Given the description of an element on the screen output the (x, y) to click on. 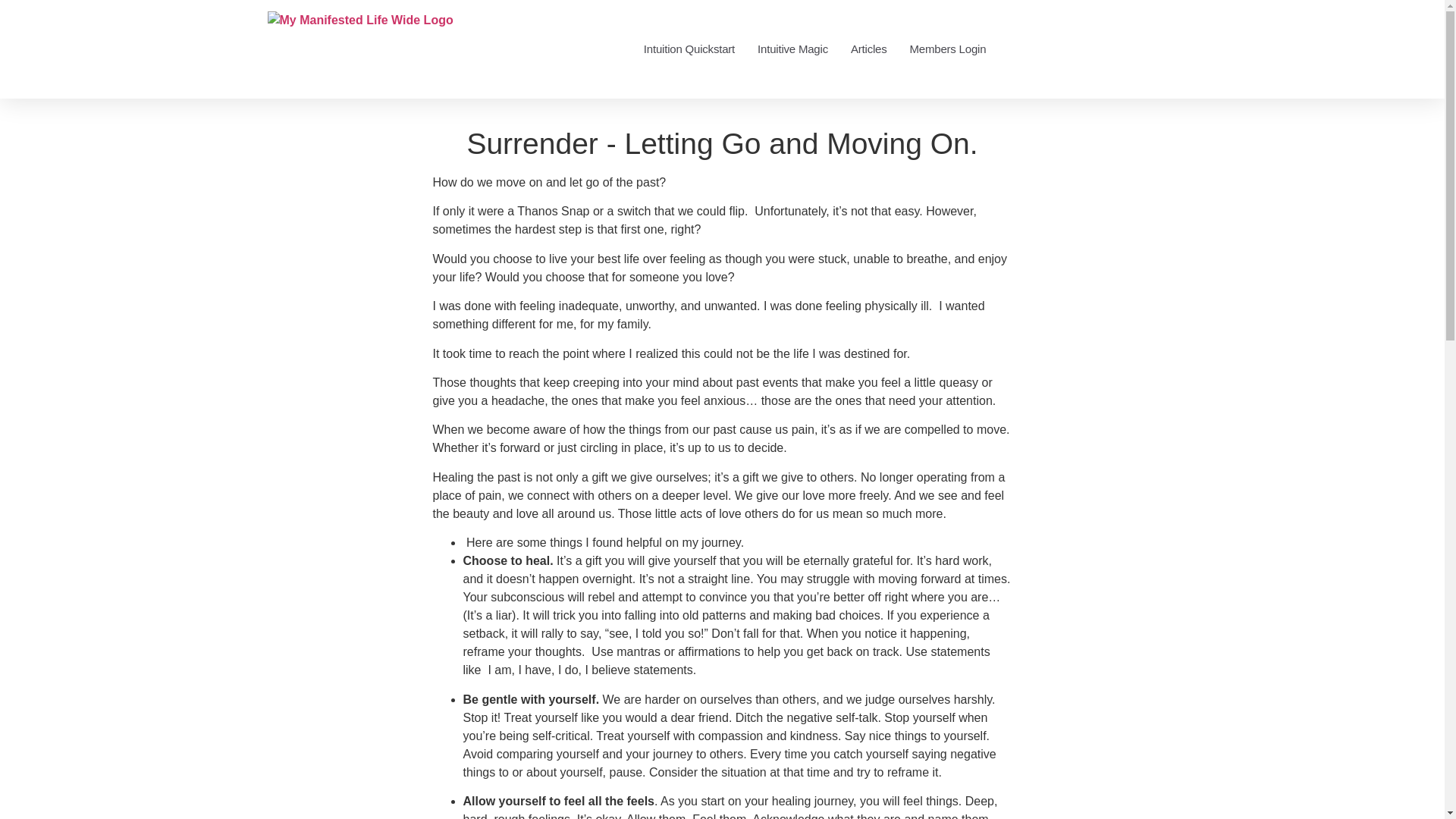
Intuitive Magic (792, 48)
Intuition Quickstart (689, 48)
Members Login (948, 48)
Articles (868, 48)
